Given the description of an element on the screen output the (x, y) to click on. 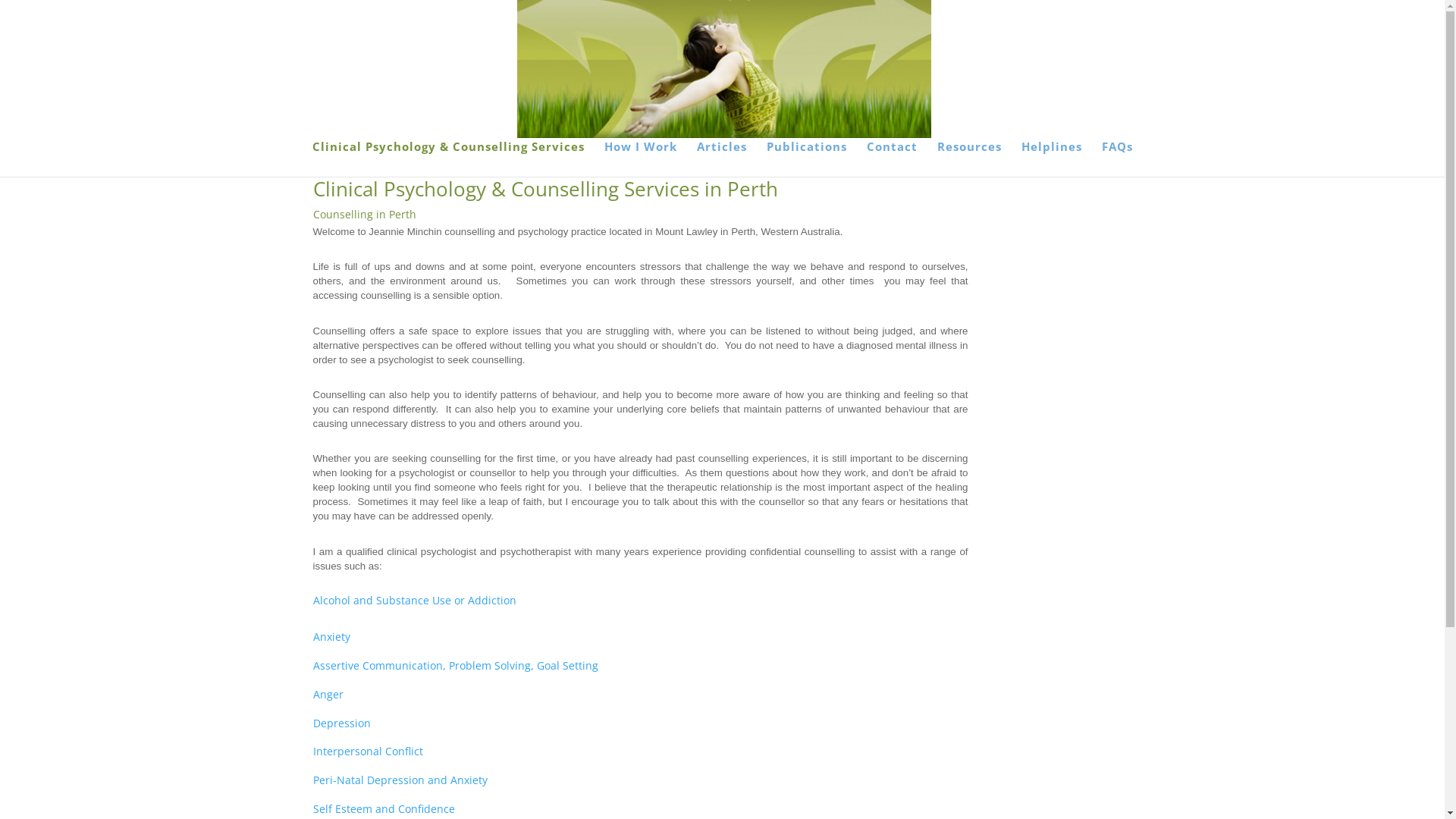
Anxiety Element type: text (330, 636)
Assertive Communication, Problem Solving, Goal Setting Element type: text (454, 665)
FAQs Element type: text (1116, 158)
Contact Element type: text (891, 158)
Anger Element type: text (327, 694)
Publications Element type: text (805, 158)
Peri-Natal Depression and Anxiety Element type: text (399, 779)
How I Work Element type: text (639, 158)
Clinical Psychology & Counselling Services Element type: text (448, 158)
Self Esteem and Confidence Element type: text (383, 808)
Articles Element type: text (721, 158)
Depression Element type: text (341, 722)
Helplines Element type: text (1050, 158)
Alcohol and Substance Use or Addiction Element type: text (413, 600)
Interpersonal Conflict Element type: text (367, 750)
Resources Element type: text (969, 158)
